Given the description of an element on the screen output the (x, y) to click on. 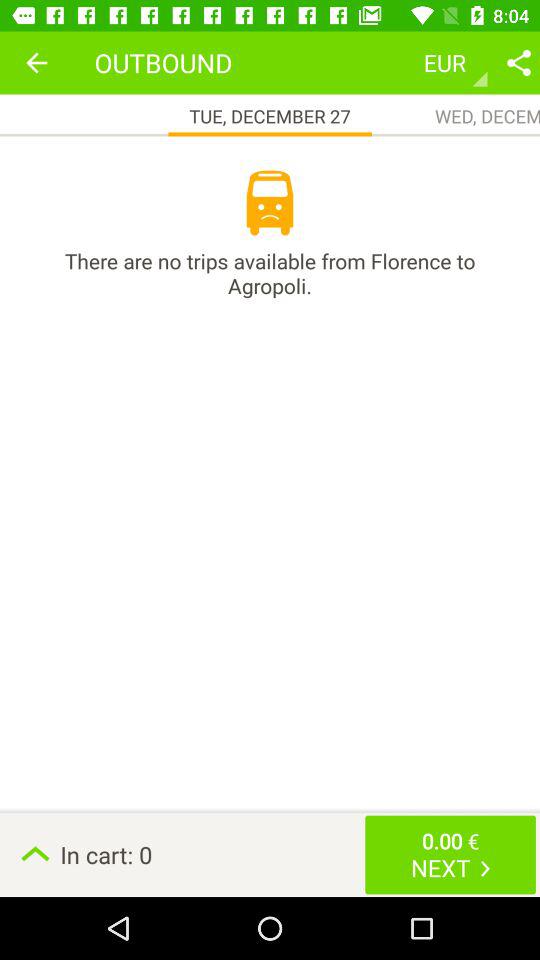
share (519, 62)
